Given the description of an element on the screen output the (x, y) to click on. 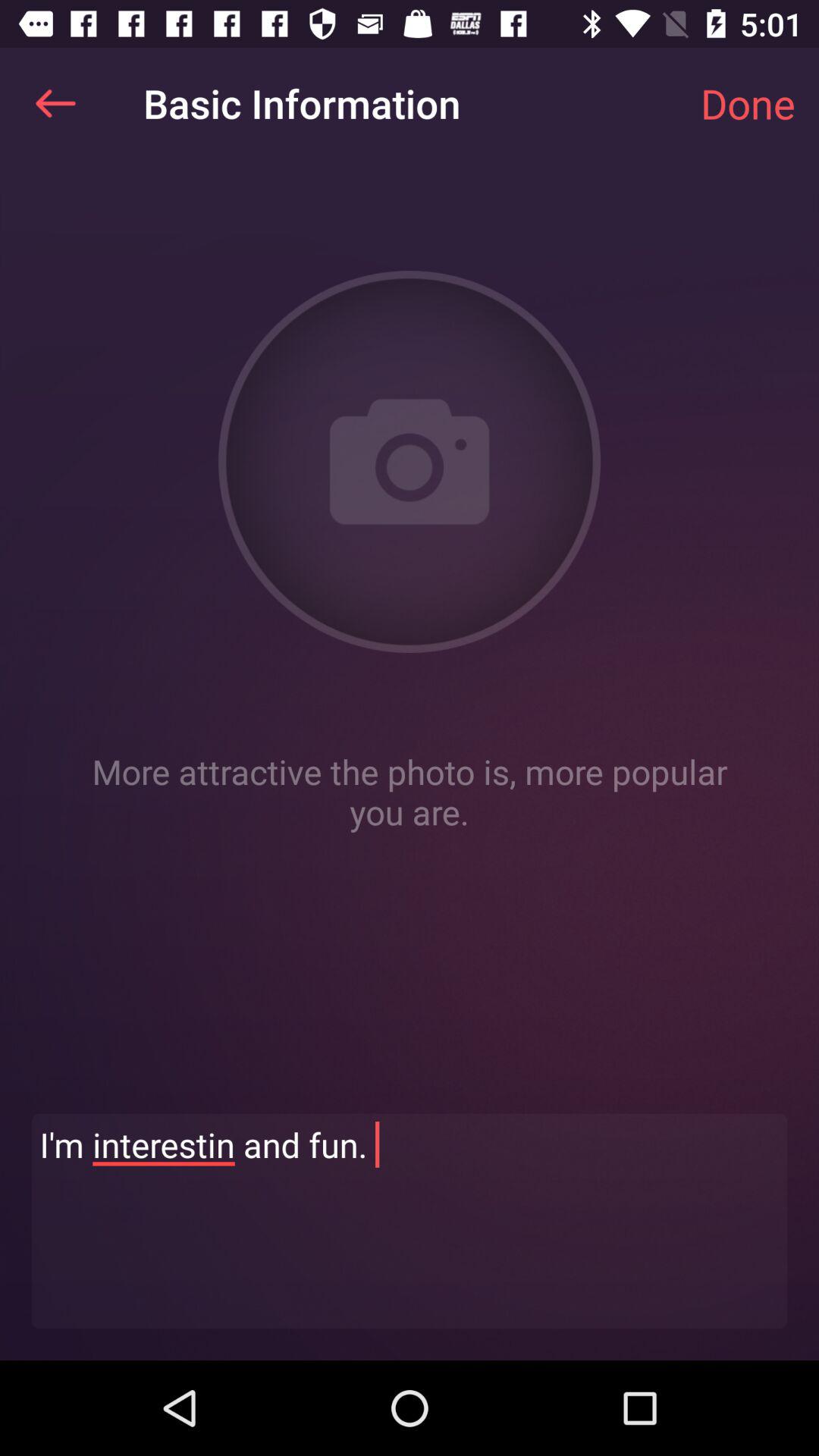
choose icon above the more attractive the (55, 103)
